Given the description of an element on the screen output the (x, y) to click on. 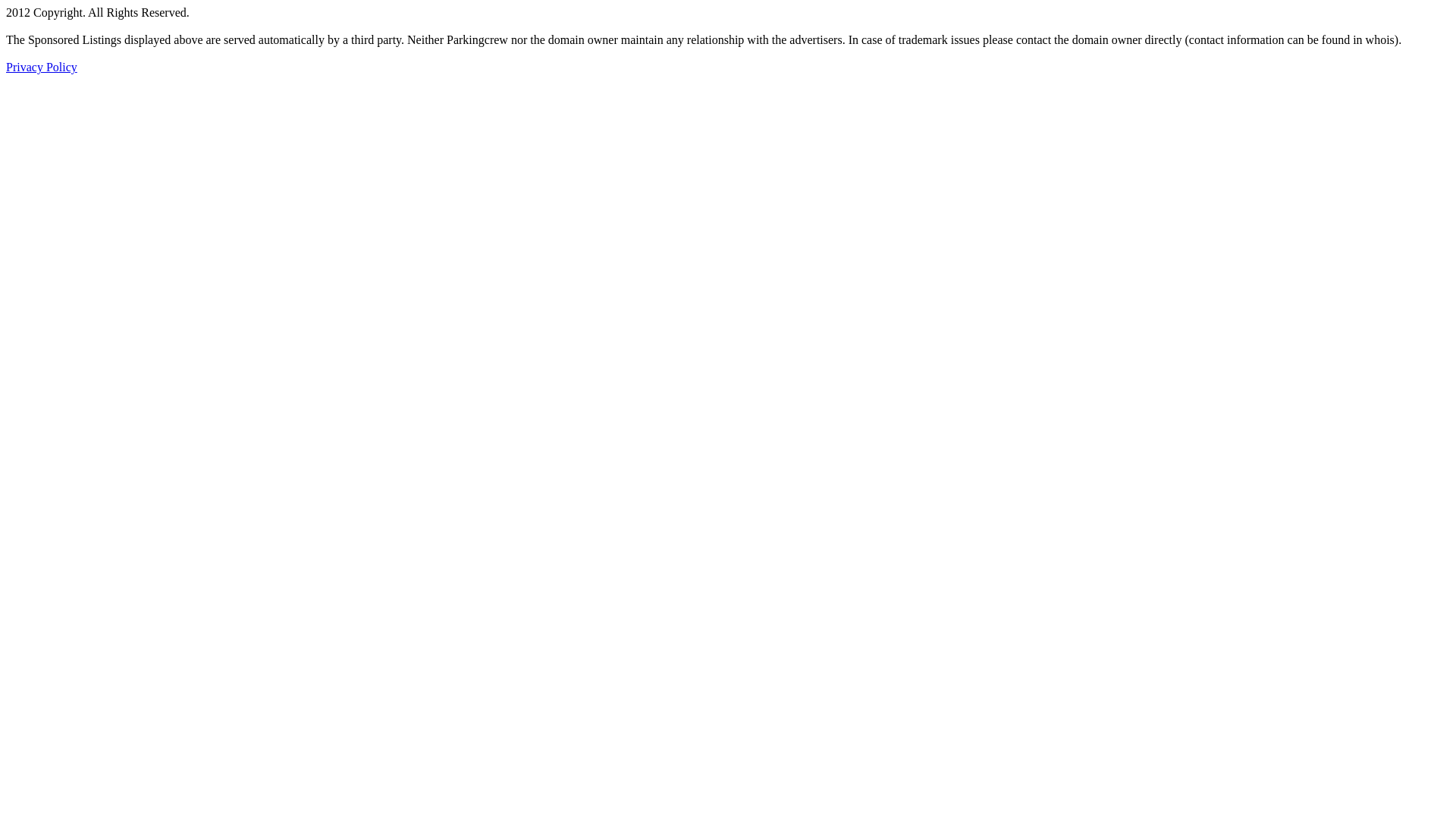
Privacy Policy Element type: text (41, 66)
